Given the description of an element on the screen output the (x, y) to click on. 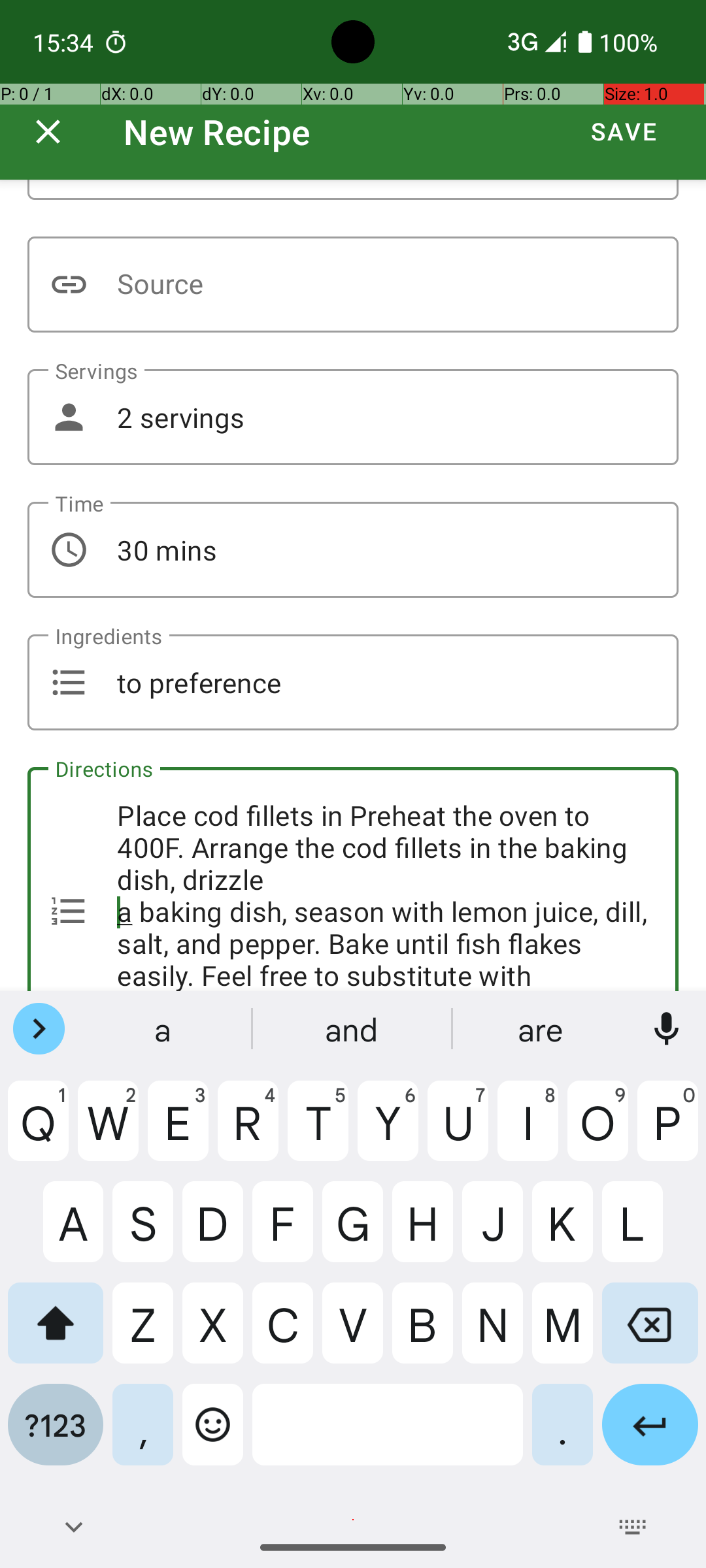
Place cod fillets in Preheat the oven to 400F. Arrange the cod fillets in the baking dish, drizzle
a baking dish, season with lemon juice, dill, salt, and pepper. Bake until fish flakes easily. Feel free to substitute with ingredients you have on hand. Element type: android.widget.EditText (352, 879)
and Element type: android.widget.FrameLayout (352, 1028)
are Element type: android.widget.FrameLayout (541, 1028)
